Given the description of an element on the screen output the (x, y) to click on. 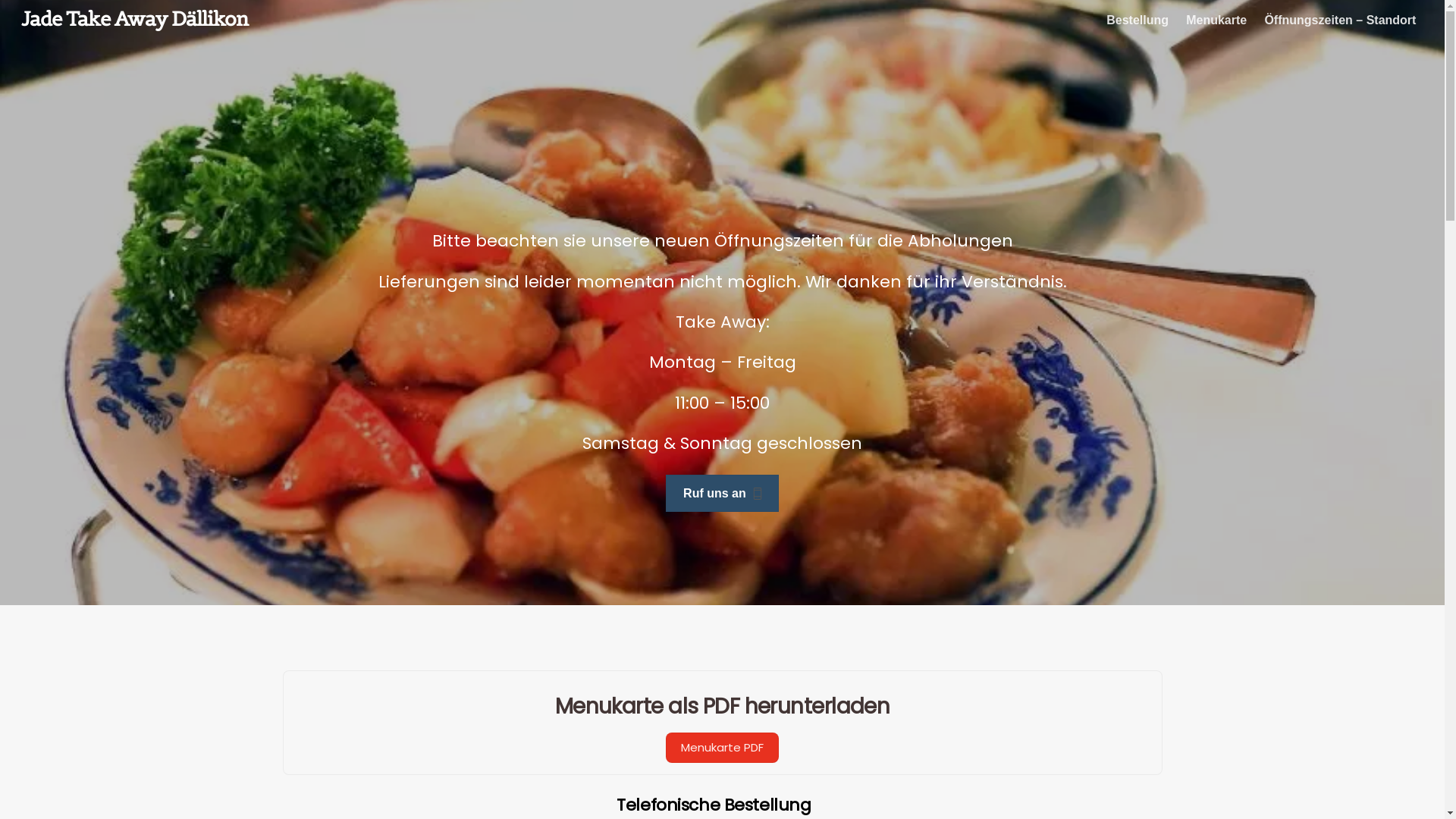
Menukarte PDF Element type: text (721, 747)
Menukarte Element type: text (1216, 20)
Bestellung Element type: text (1137, 20)
Ruf uns an Element type: text (721, 492)
